Given the description of an element on the screen output the (x, y) to click on. 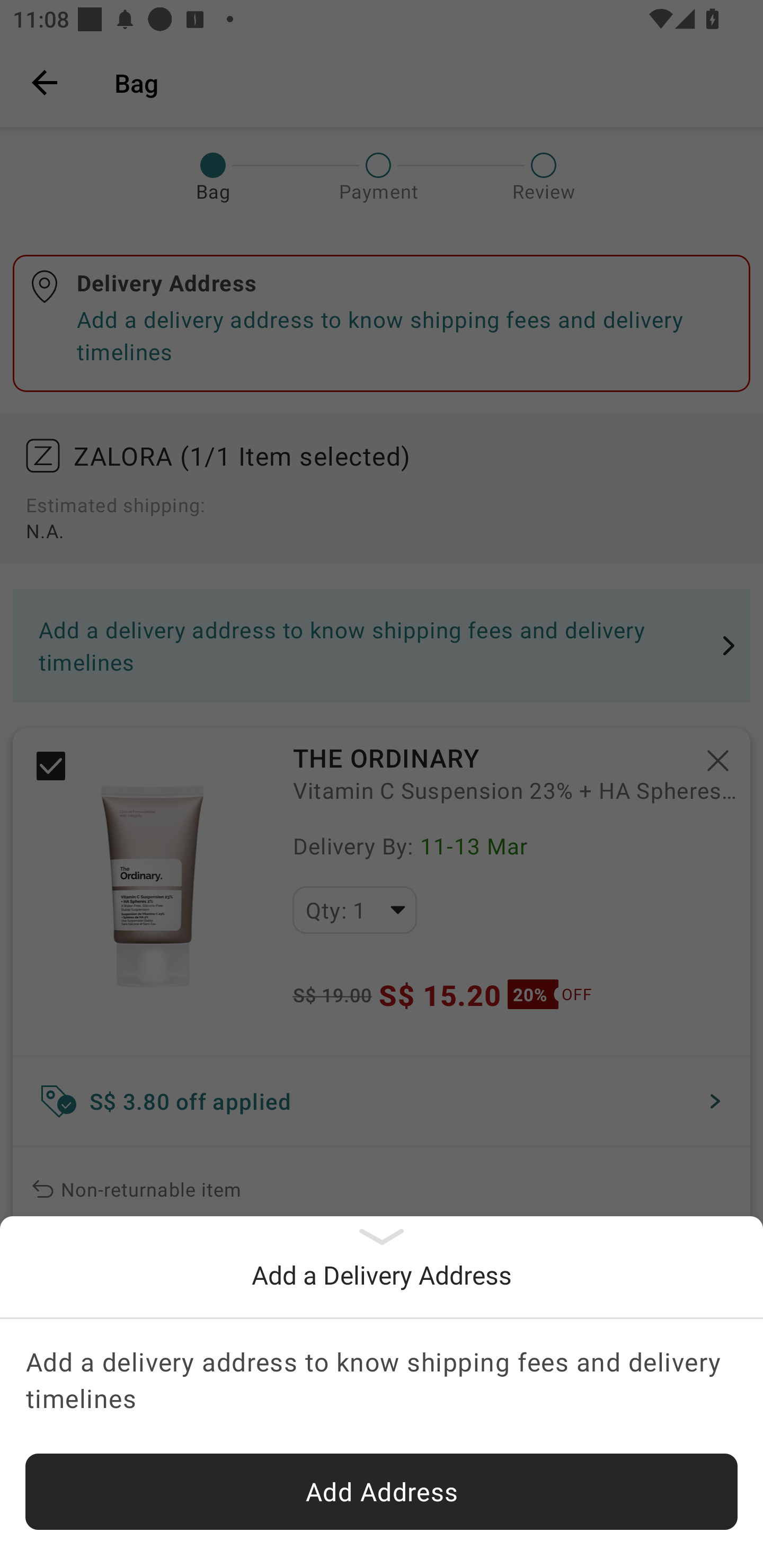
Add Address (381, 1491)
